Given the description of an element on the screen output the (x, y) to click on. 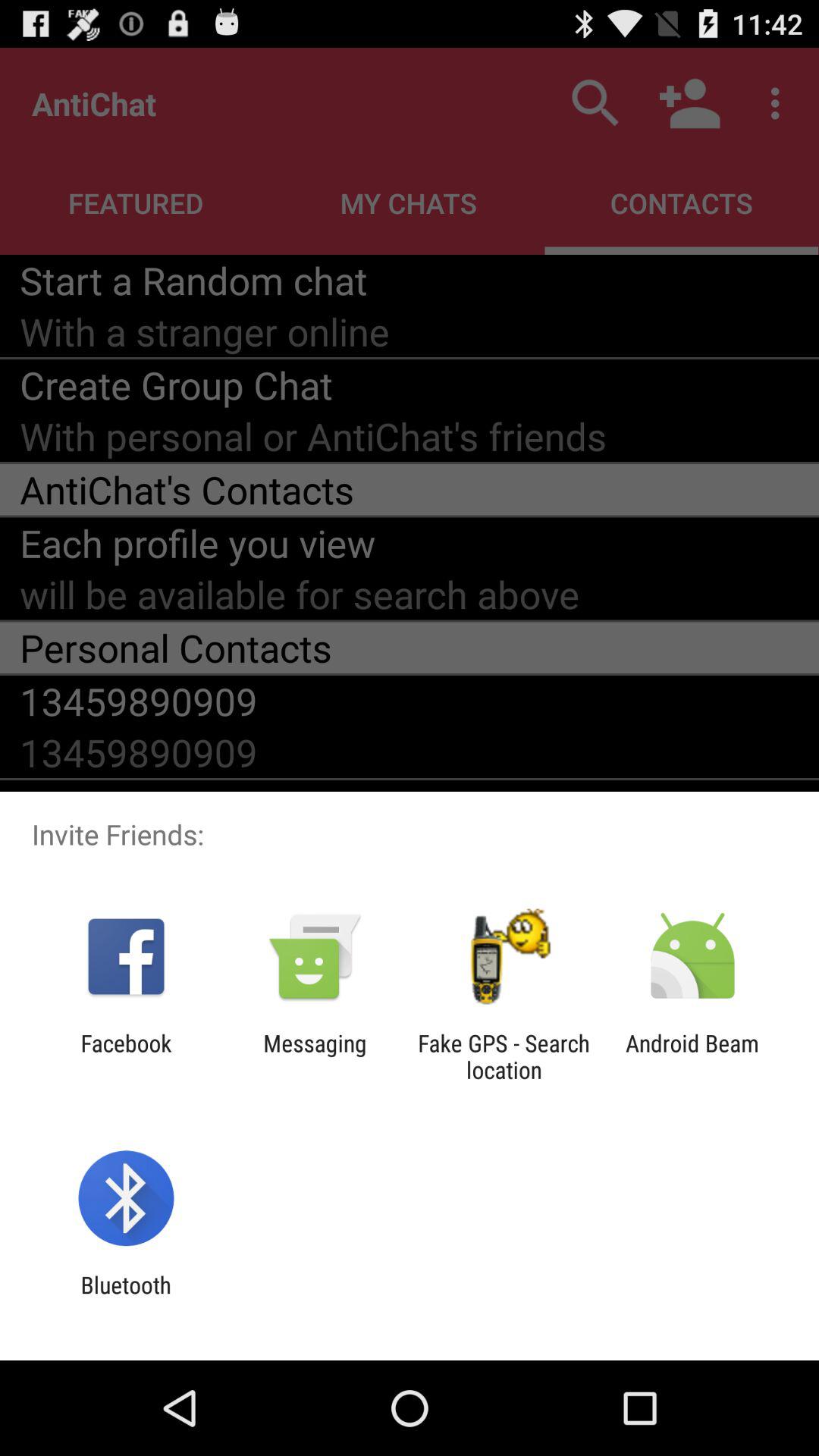
click app to the right of the messaging item (503, 1056)
